Given the description of an element on the screen output the (x, y) to click on. 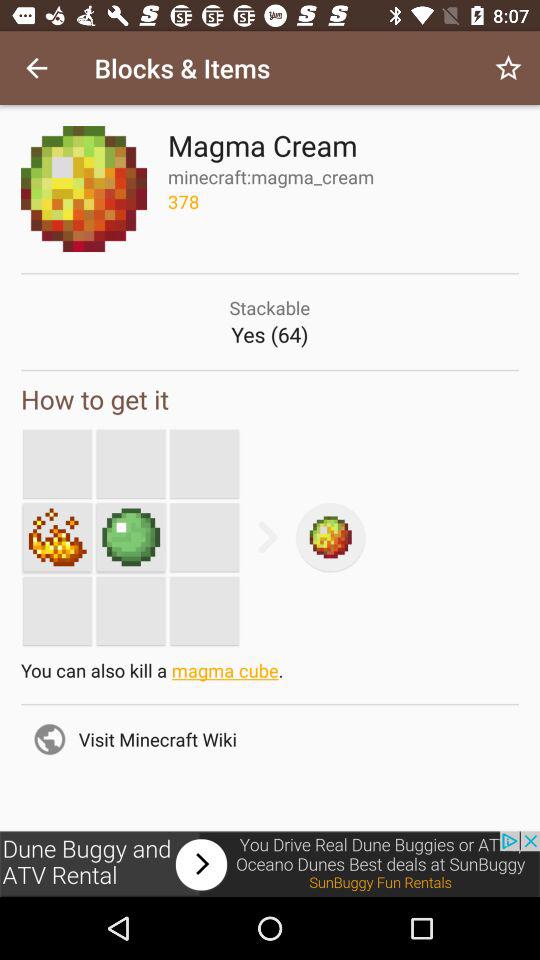
tap item next to blocks & items icon (36, 68)
